Given the description of an element on the screen output the (x, y) to click on. 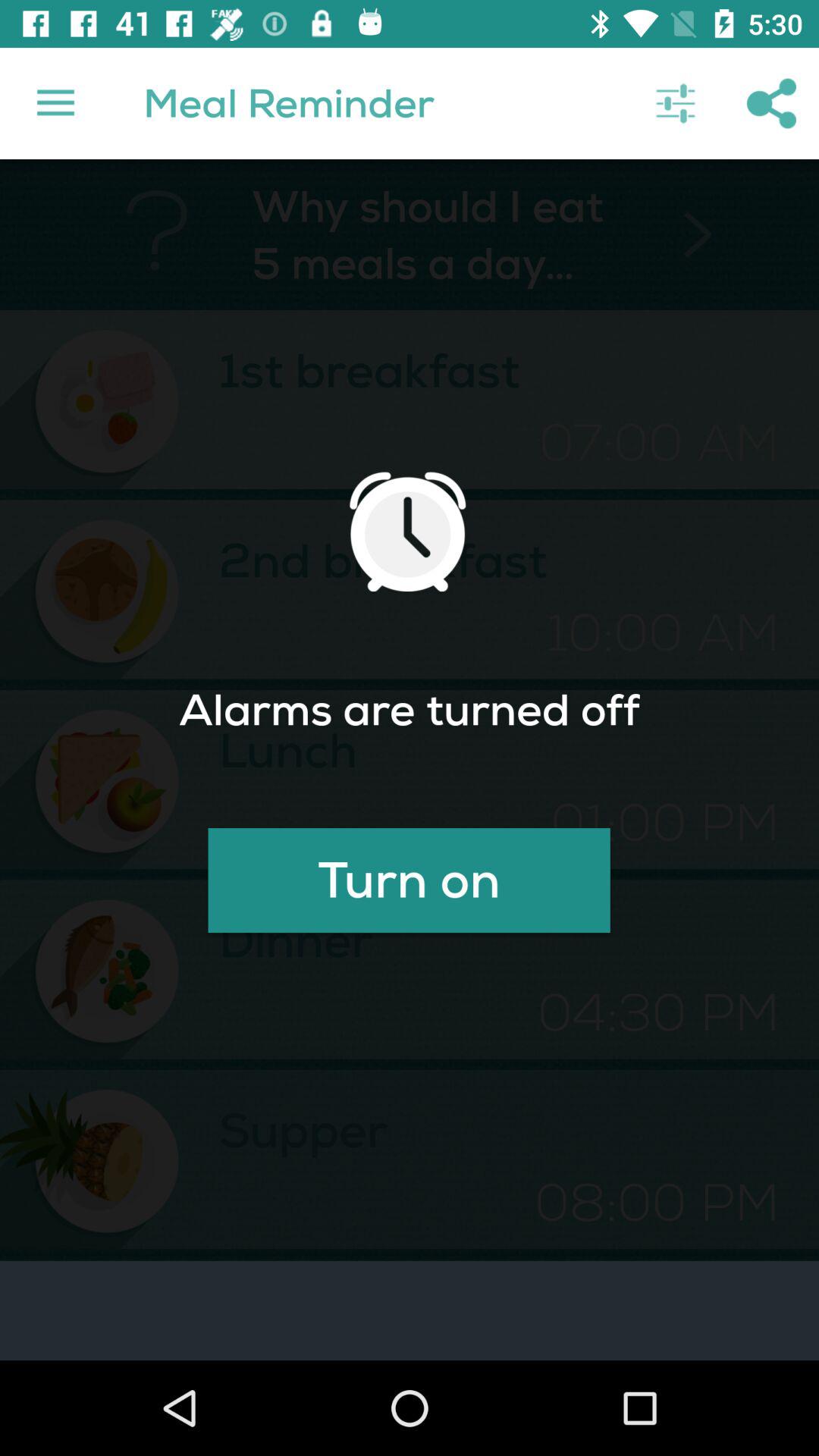
choose turn on (409, 880)
